Given the description of an element on the screen output the (x, y) to click on. 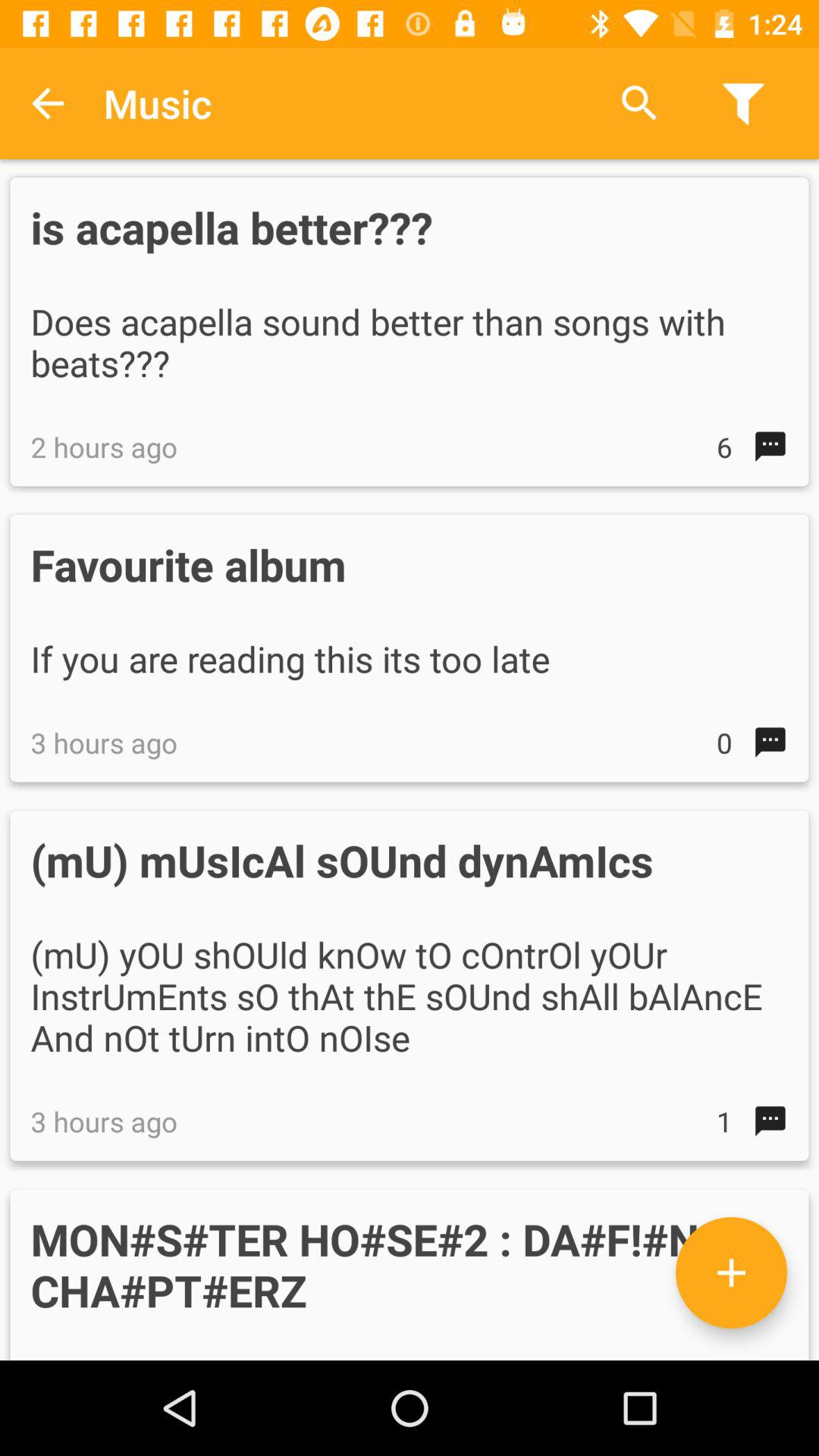
open icon below 1 (731, 1272)
